Given the description of an element on the screen output the (x, y) to click on. 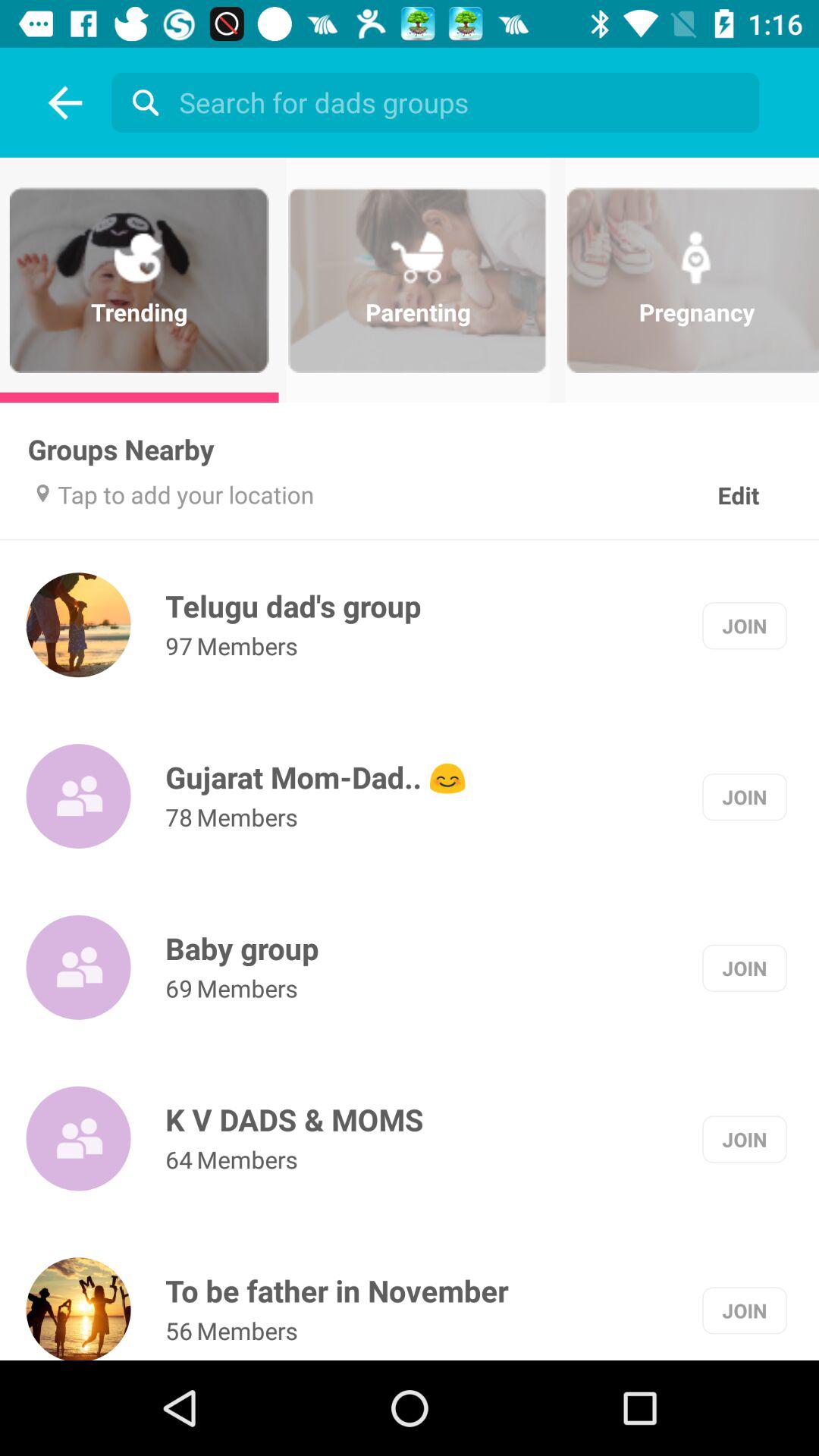
jump until the 56 item (178, 1330)
